Given the description of an element on the screen output the (x, y) to click on. 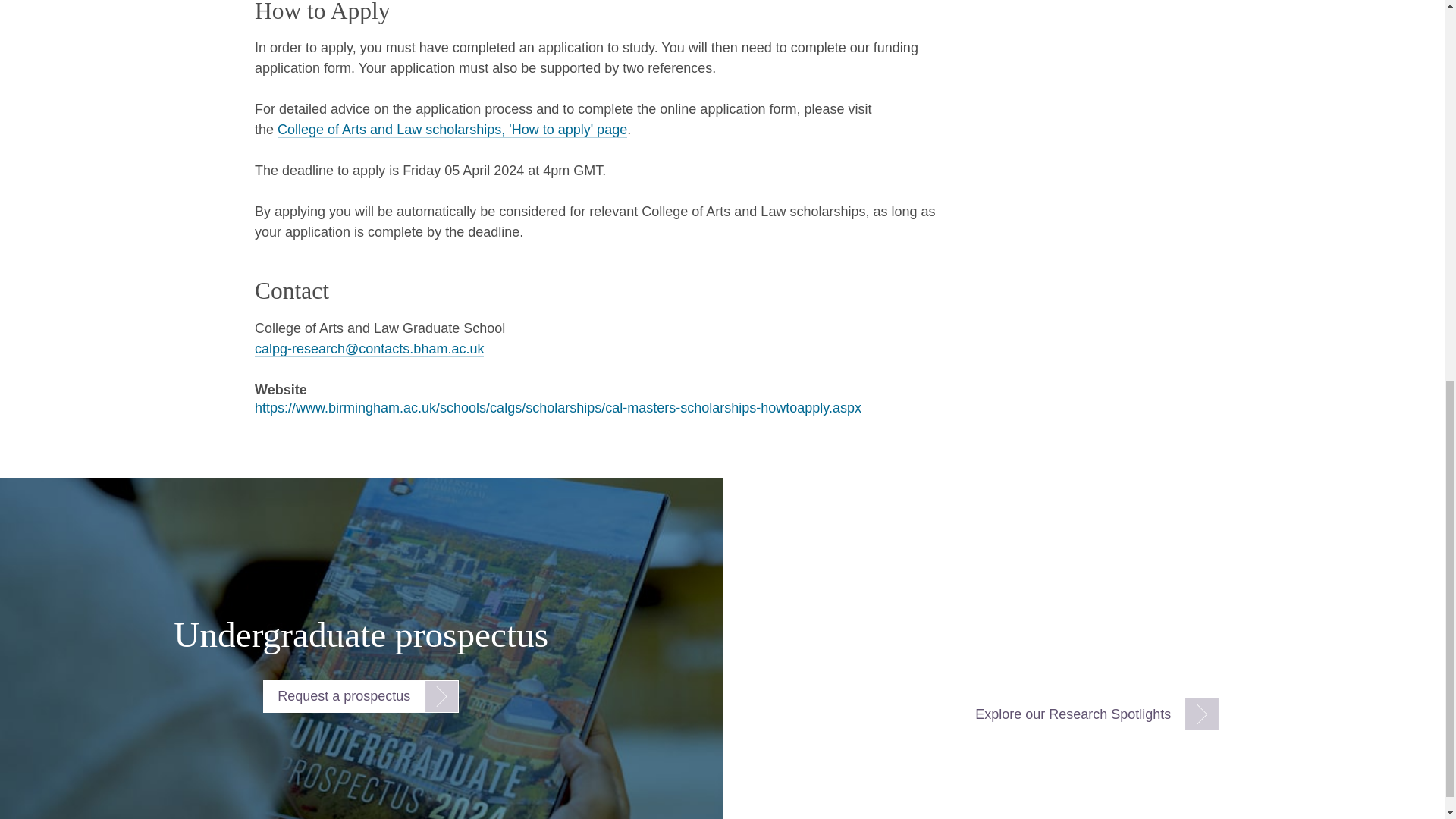
Request a prospectus (360, 696)
College of Arts and Law Masters scholarships - How to Apply (452, 130)
Explore our Research Spotlights (1090, 713)
College of Arts and Law scholarships, 'How to apply' page (452, 130)
